Given the description of an element on the screen output the (x, y) to click on. 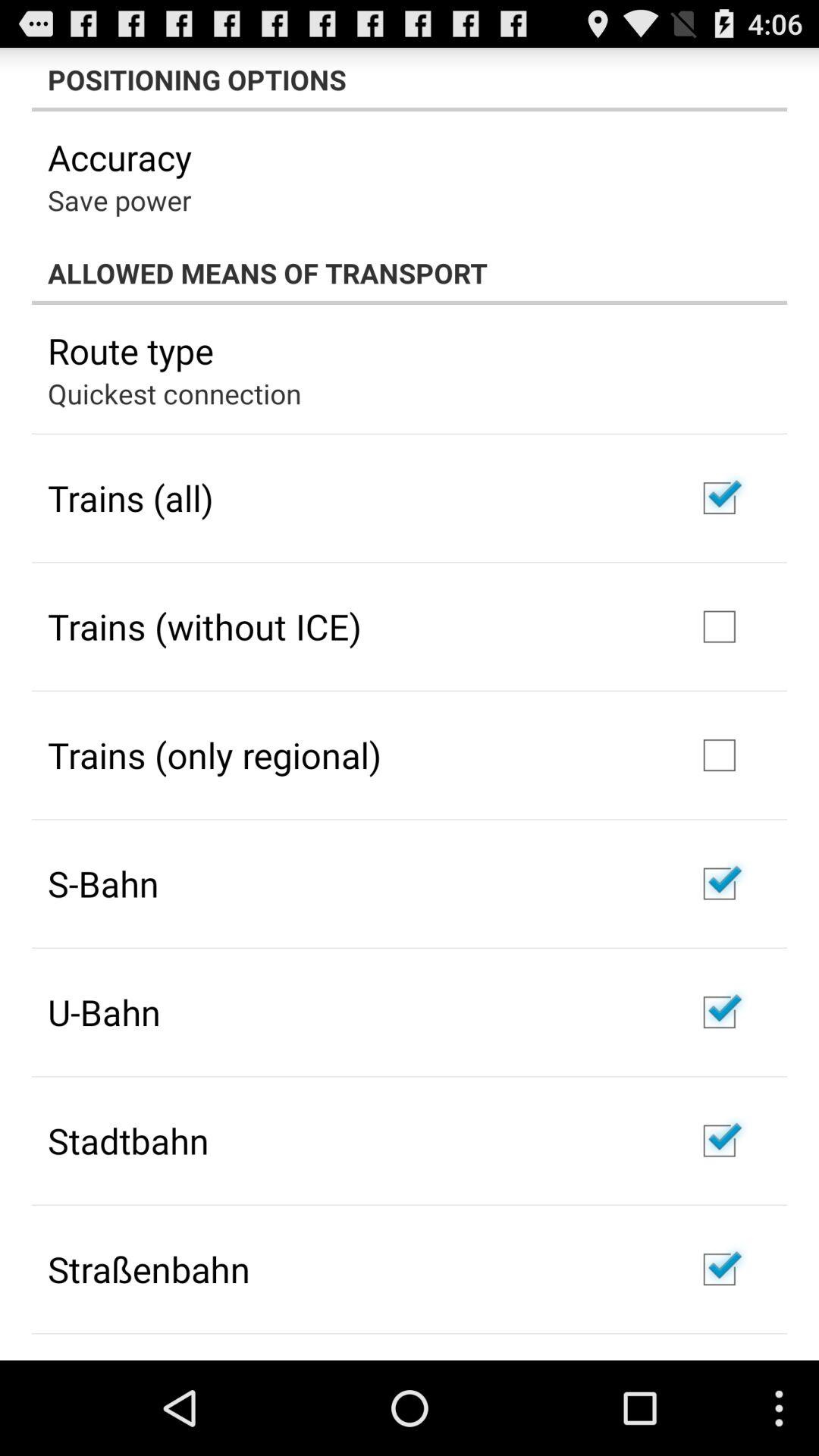
press the positioning options (409, 79)
